Given the description of an element on the screen output the (x, y) to click on. 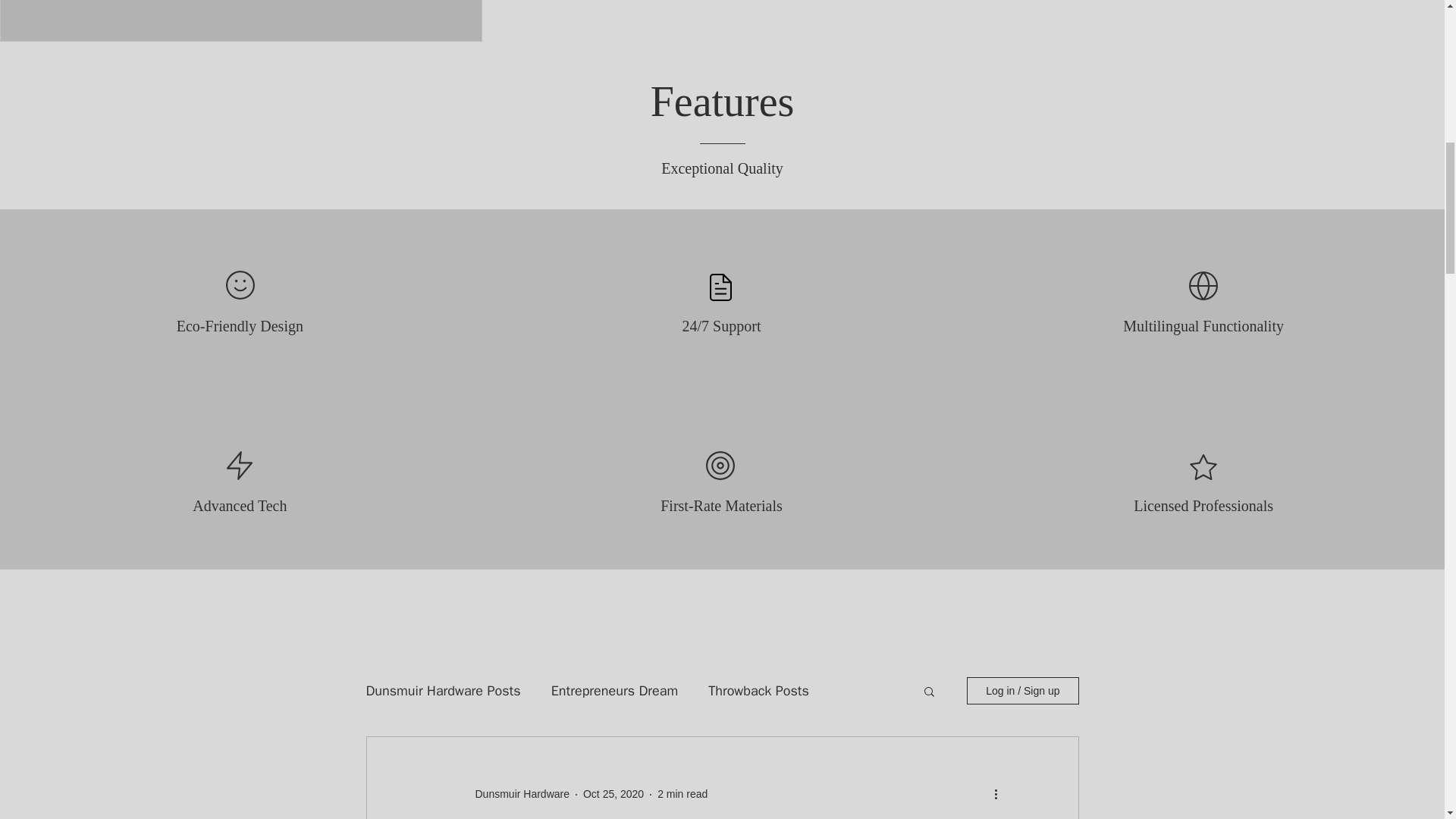
2 min read (682, 793)
Oct 25, 2020 (613, 793)
Dunsmuir Hardware Posts (442, 690)
Entrepreneurs Dream (614, 690)
Dunsmuir Hardware (517, 794)
Throwback Posts (758, 690)
